Given the description of an element on the screen output the (x, y) to click on. 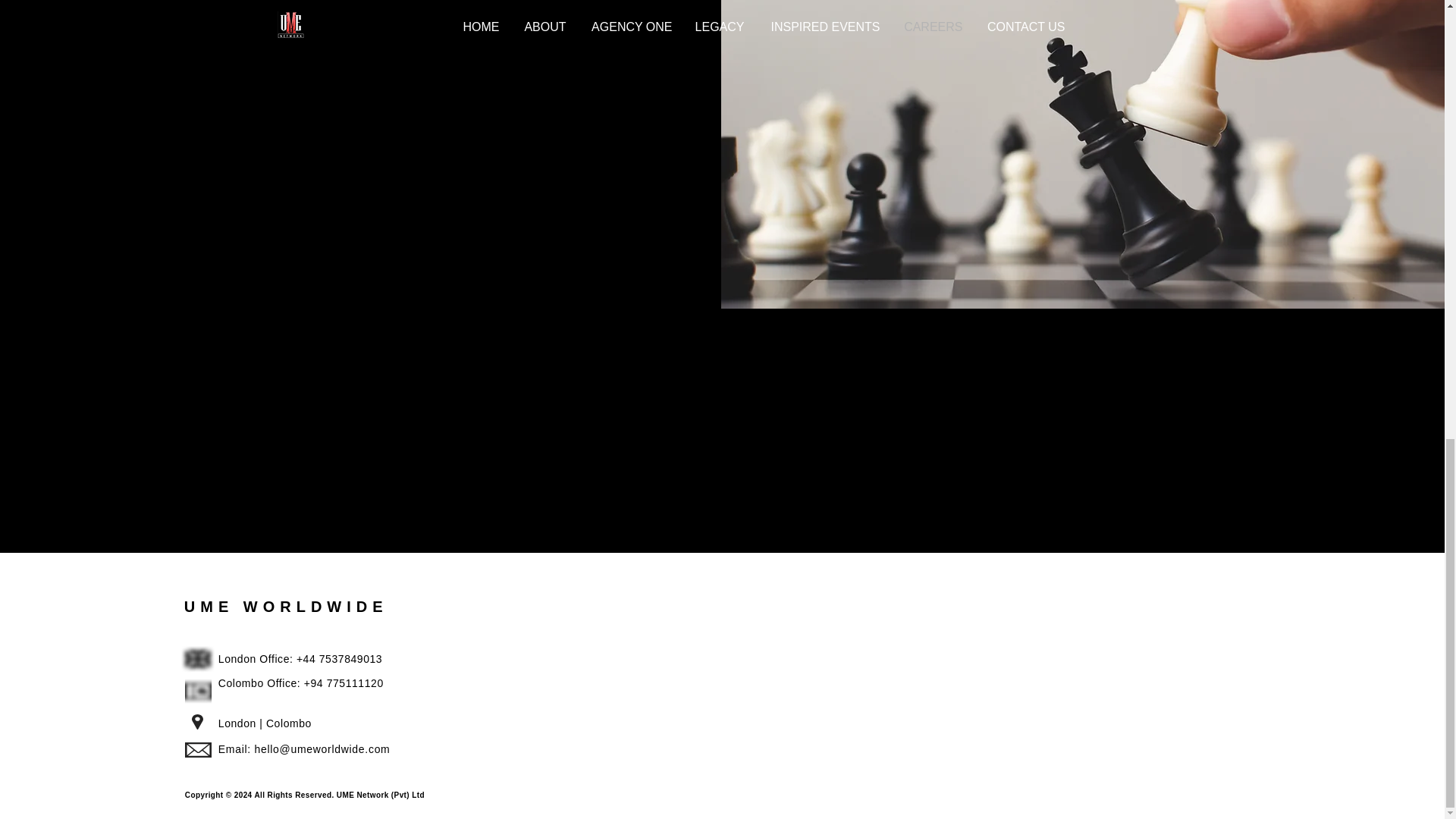
41744-200.png (197, 691)
UME WORLDWIDE (286, 606)
